Given the description of an element on the screen output the (x, y) to click on. 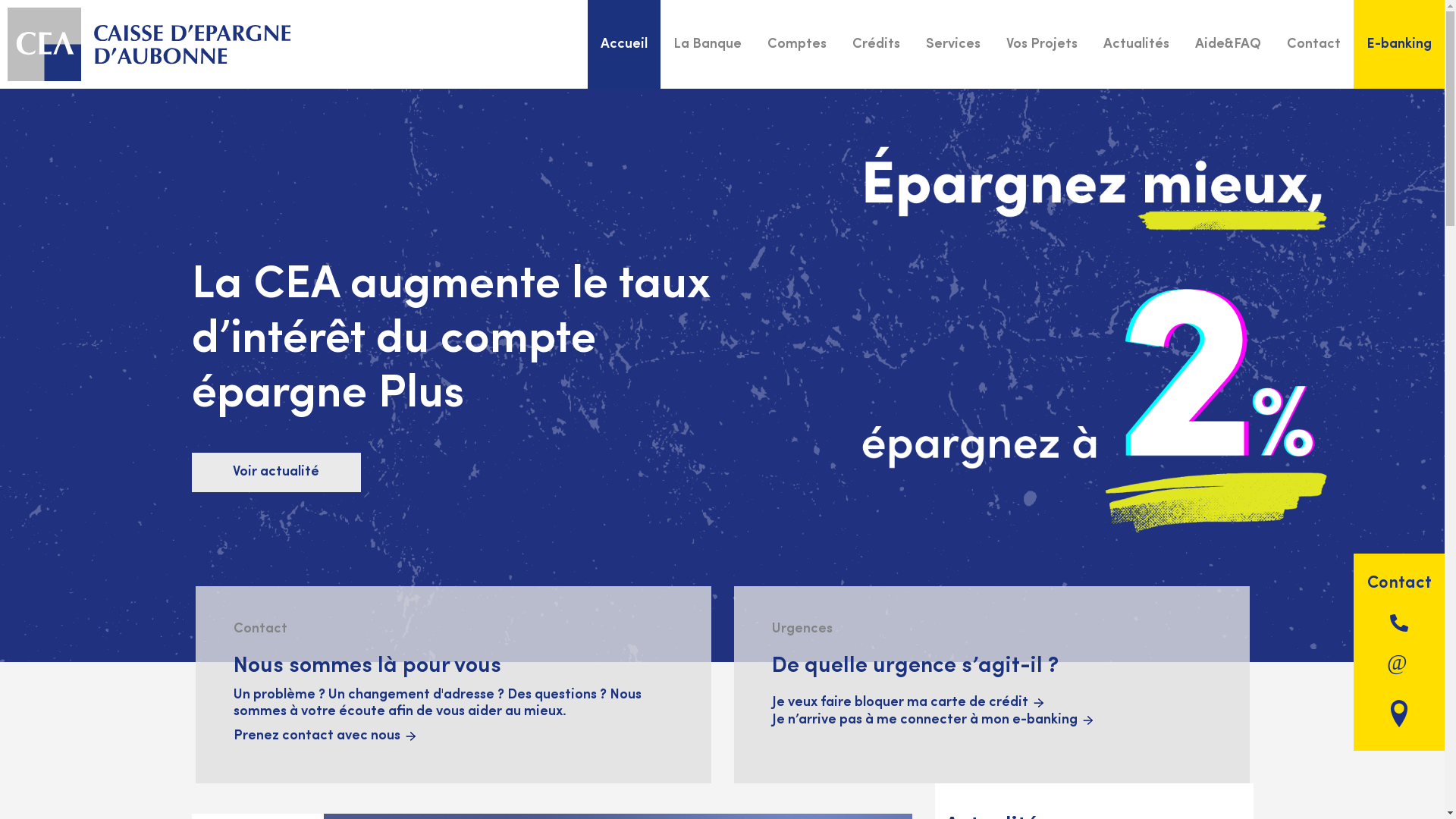
Services Element type: text (953, 44)
Vos Projets Element type: text (1041, 44)
Contact Element type: text (1398, 583)
Accueil Element type: text (623, 44)
Aide&FAQ Element type: text (1228, 44)
La Banque Element type: text (707, 44)
Contact Element type: text (1313, 44)
Prenez contact avec nous Element type: text (324, 736)
E-banking Element type: text (1398, 44)
Comptes Element type: text (796, 44)
